Given the description of an element on the screen output the (x, y) to click on. 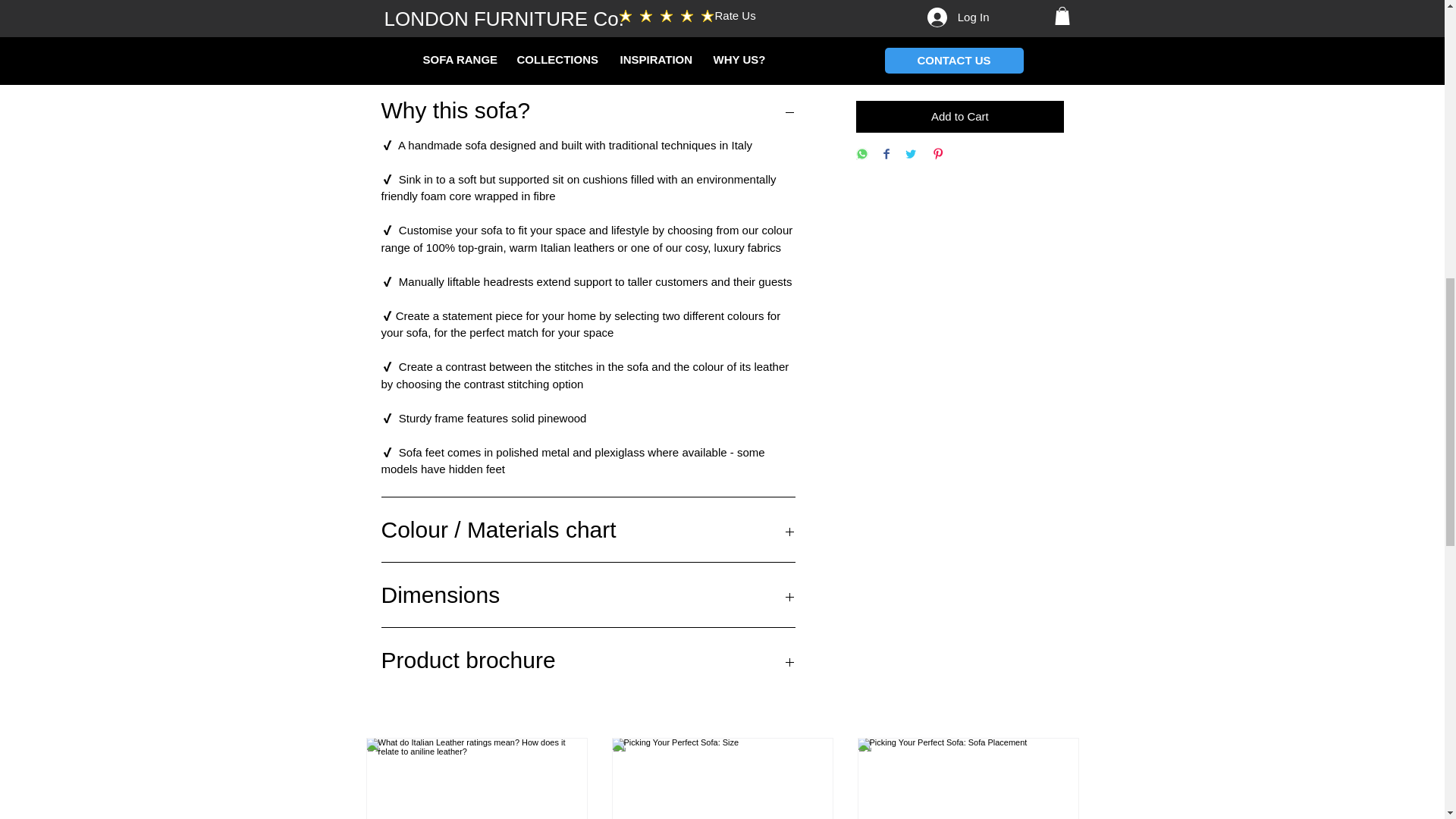
Product brochure (587, 660)
Why this sofa? (587, 109)
Dimensions (587, 594)
1 (887, 60)
Add to Cart (959, 116)
